Given the description of an element on the screen output the (x, y) to click on. 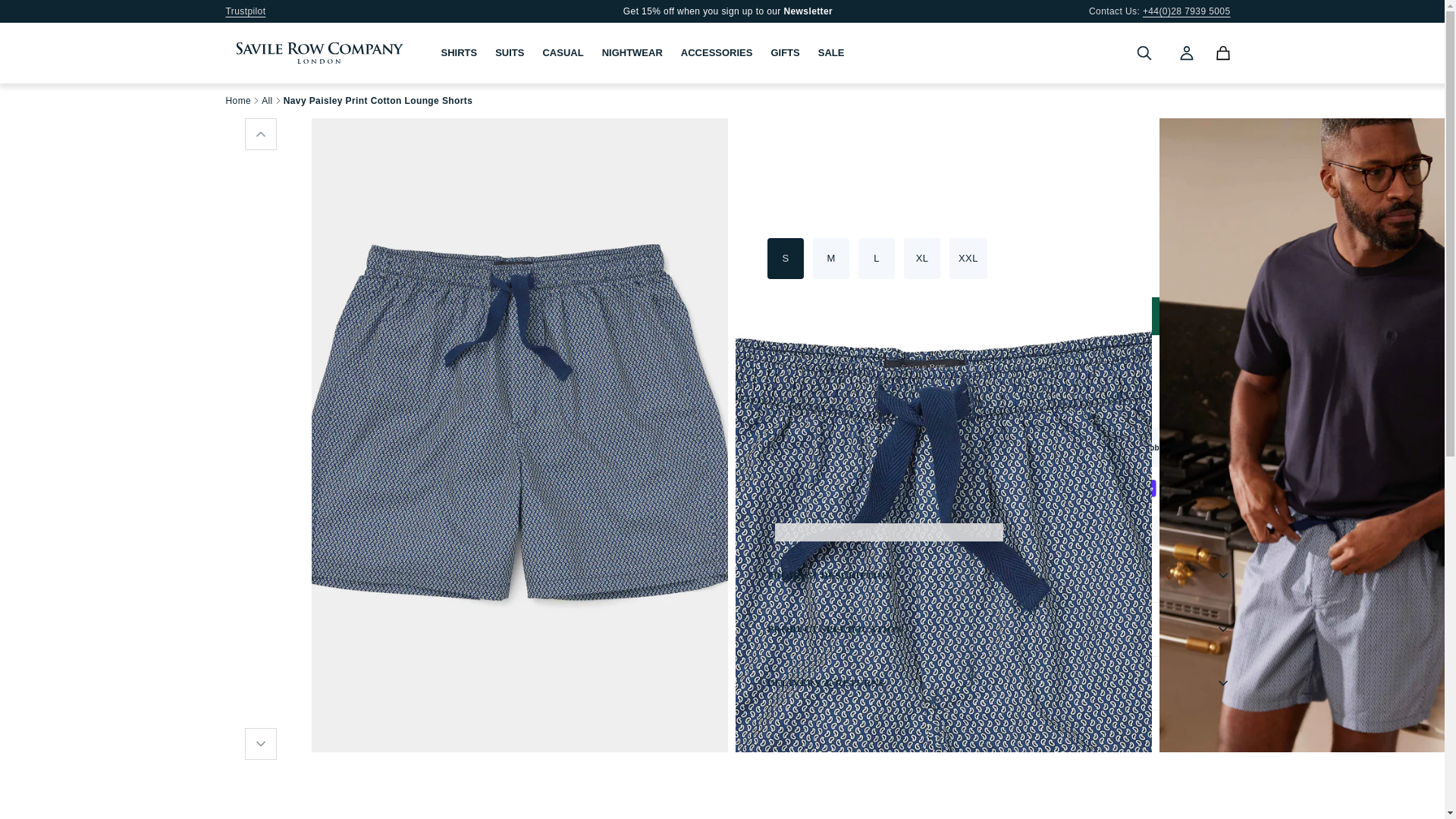
Savile Row Company (319, 52)
Customer reviews powered by Trustpilot (1116, 166)
1 (812, 315)
SHIRTS (459, 52)
Trustpilot (245, 10)
